Given the description of an element on the screen output the (x, y) to click on. 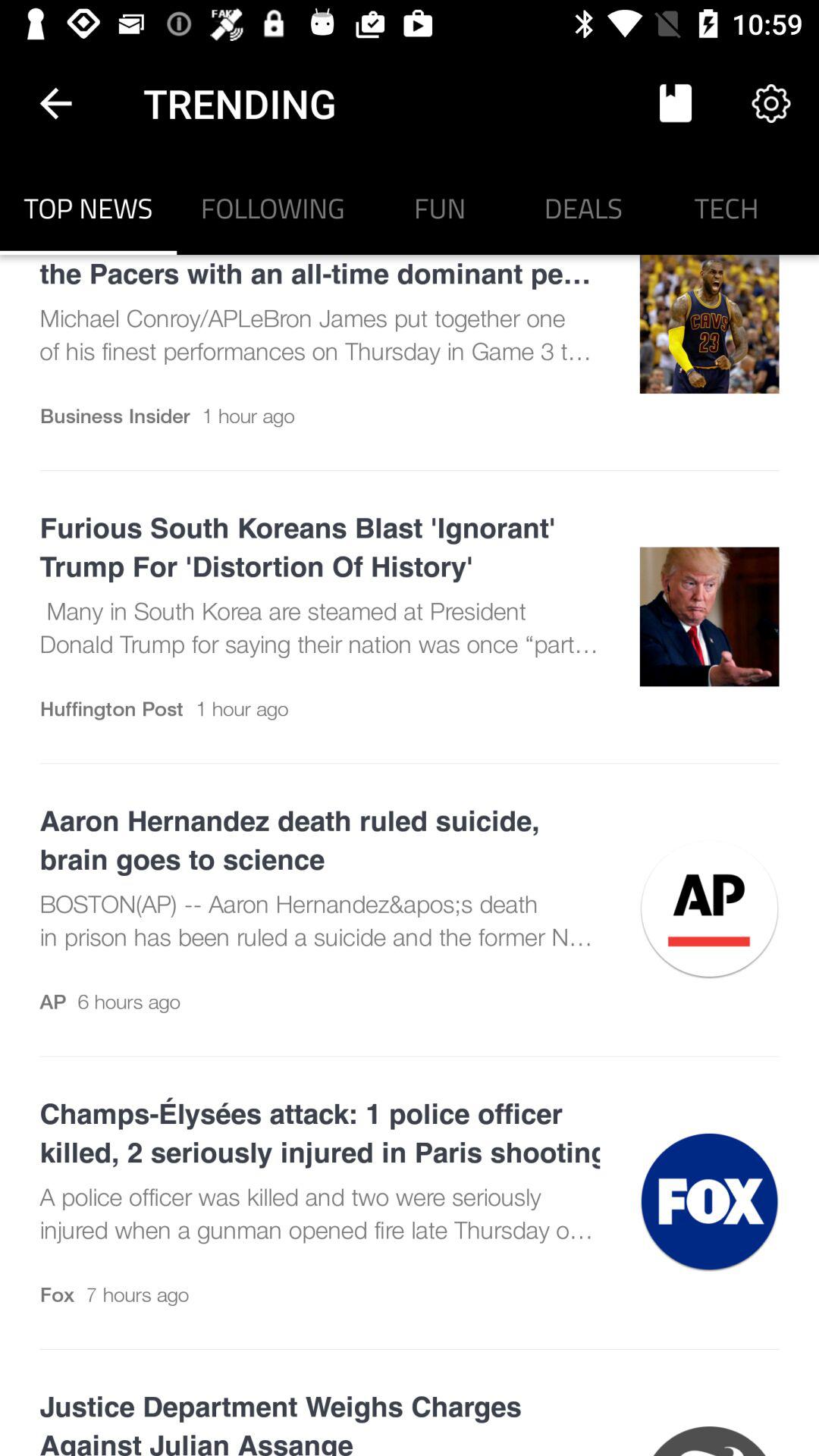
launch app to the right of the trending (675, 103)
